Given the description of an element on the screen output the (x, y) to click on. 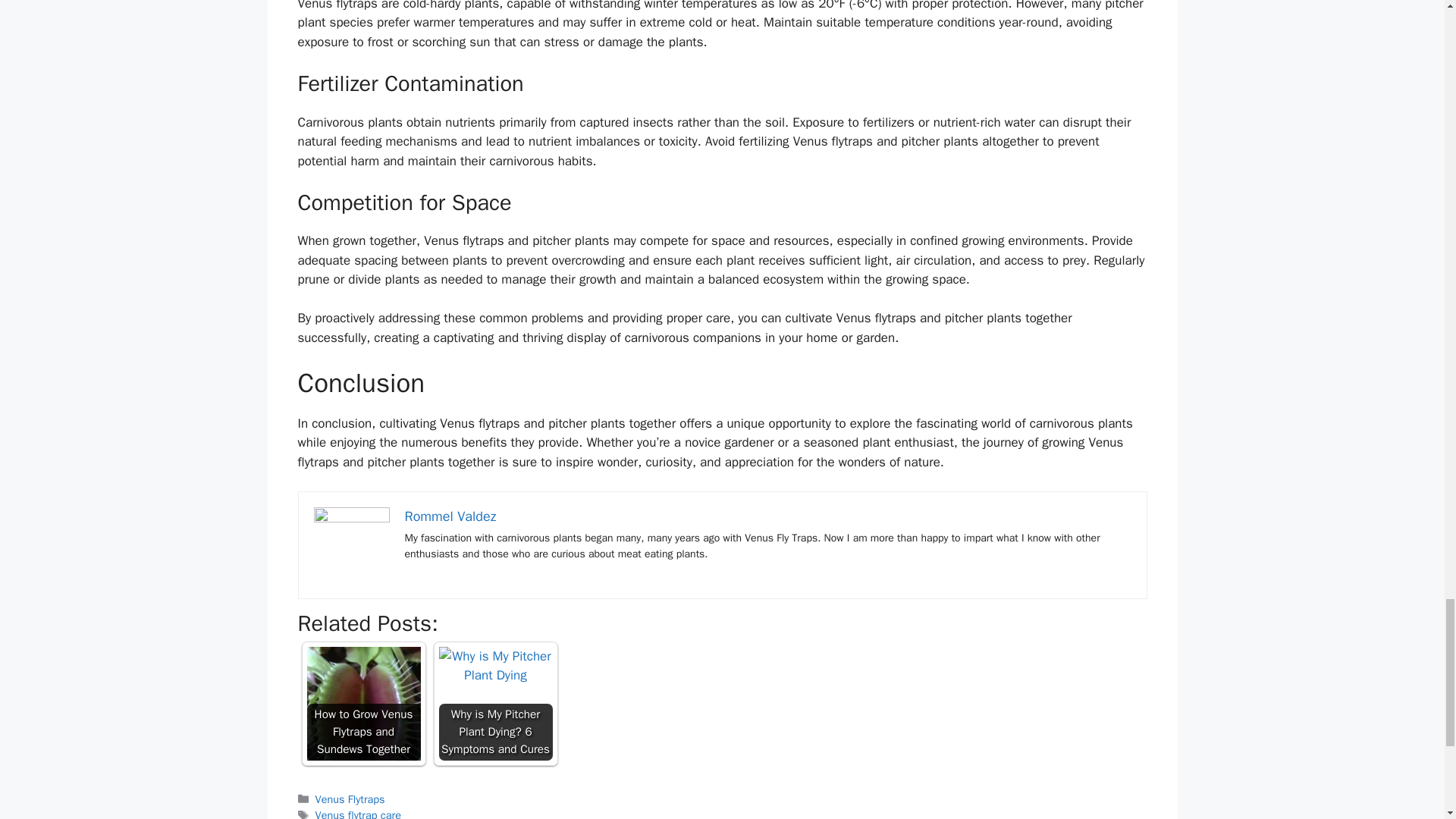
Why is My Pitcher Plant Dying? 6 Symptoms and Cures (494, 703)
Rommel Valdez (450, 515)
How to Grow Venus Flytraps and Sundews Together (362, 703)
Venus flytrap care (358, 813)
Venus Flytraps (350, 798)
How to Grow Venus Flytraps and Sundews Together (362, 703)
Why is My Pitcher Plant Dying? 6 Symptoms and Cures (494, 666)
